Given the description of an element on the screen output the (x, y) to click on. 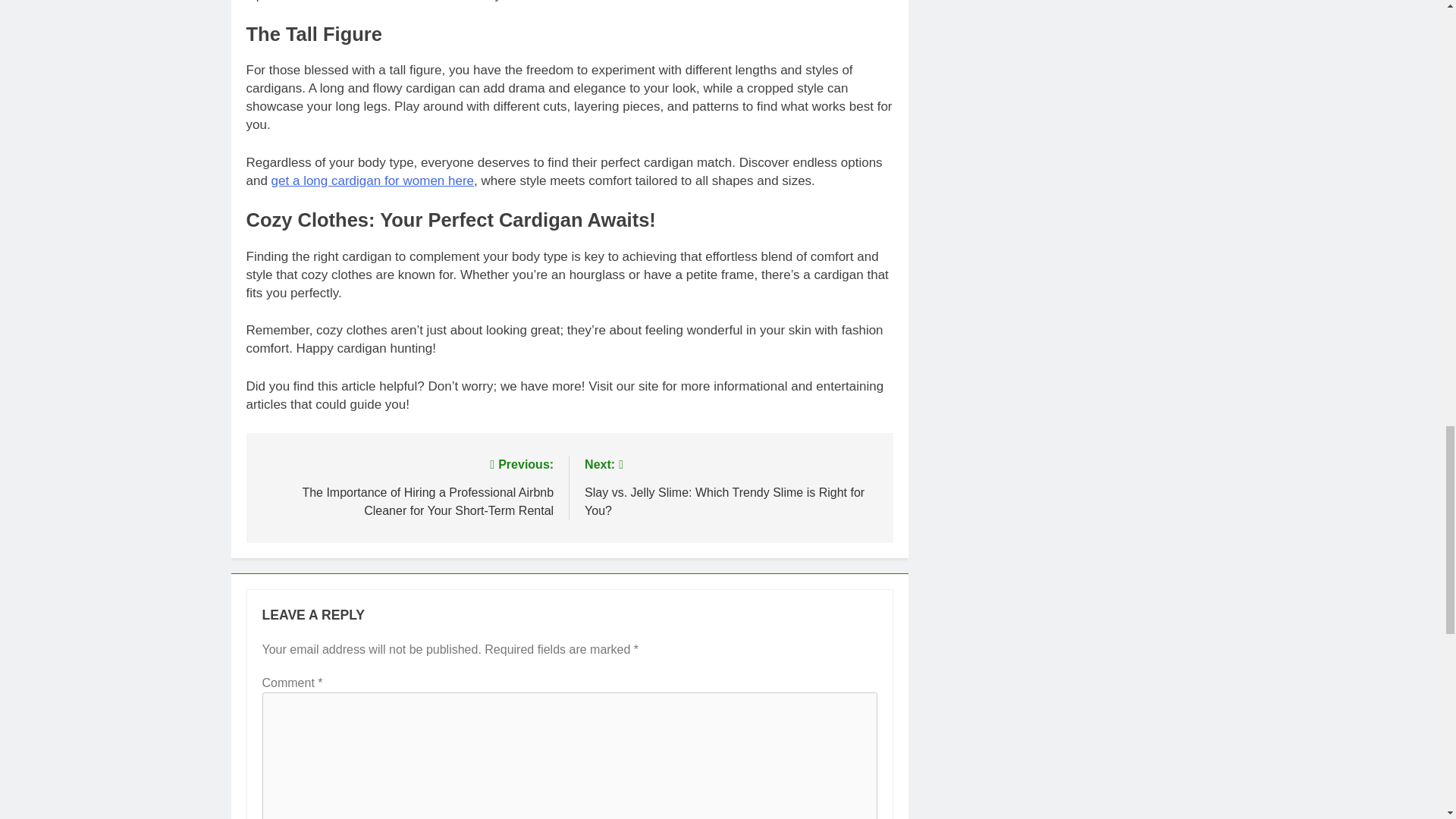
get a long cardigan for women here (372, 180)
